Given the description of an element on the screen output the (x, y) to click on. 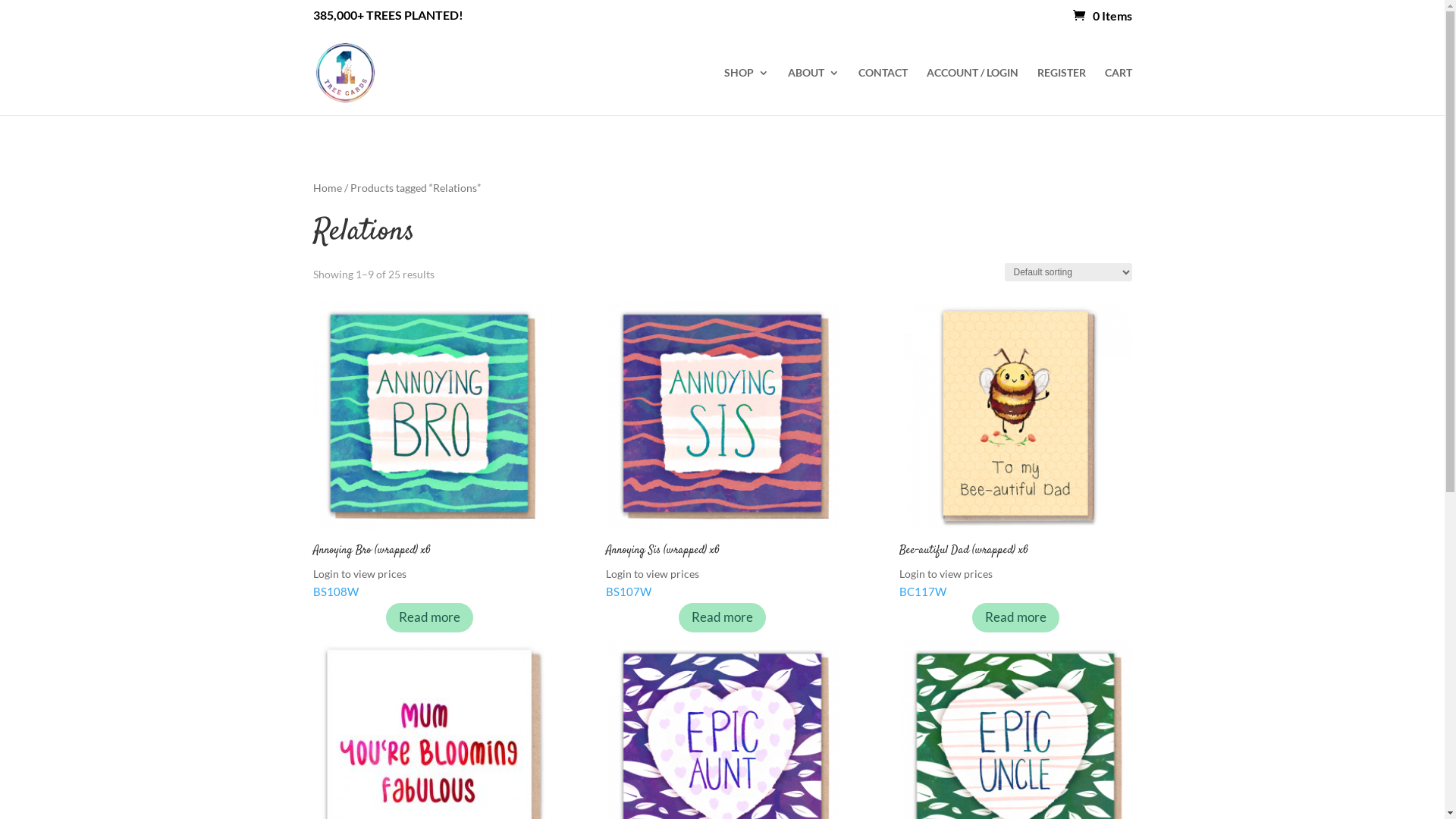
ABOUT Element type: text (812, 91)
Annoying Sis (wrapped) x6
Login to view prices
BS107W Element type: text (721, 448)
0 Items Element type: text (1101, 15)
Home Element type: text (326, 187)
ACCOUNT / LOGIN Element type: text (972, 91)
Read more Element type: text (1015, 617)
SHOP Element type: text (745, 91)
Bee-autiful Dad (wrapped) x6
Login to view prices
BC117W Element type: text (1015, 448)
Read more Element type: text (428, 617)
Annoying Bro (wrapped) x6
Login to view prices
BS108W Element type: text (428, 448)
Read more Element type: text (721, 617)
REGISTER Element type: text (1061, 91)
CART Element type: text (1117, 91)
CONTACT Element type: text (882, 91)
